Given the description of an element on the screen output the (x, y) to click on. 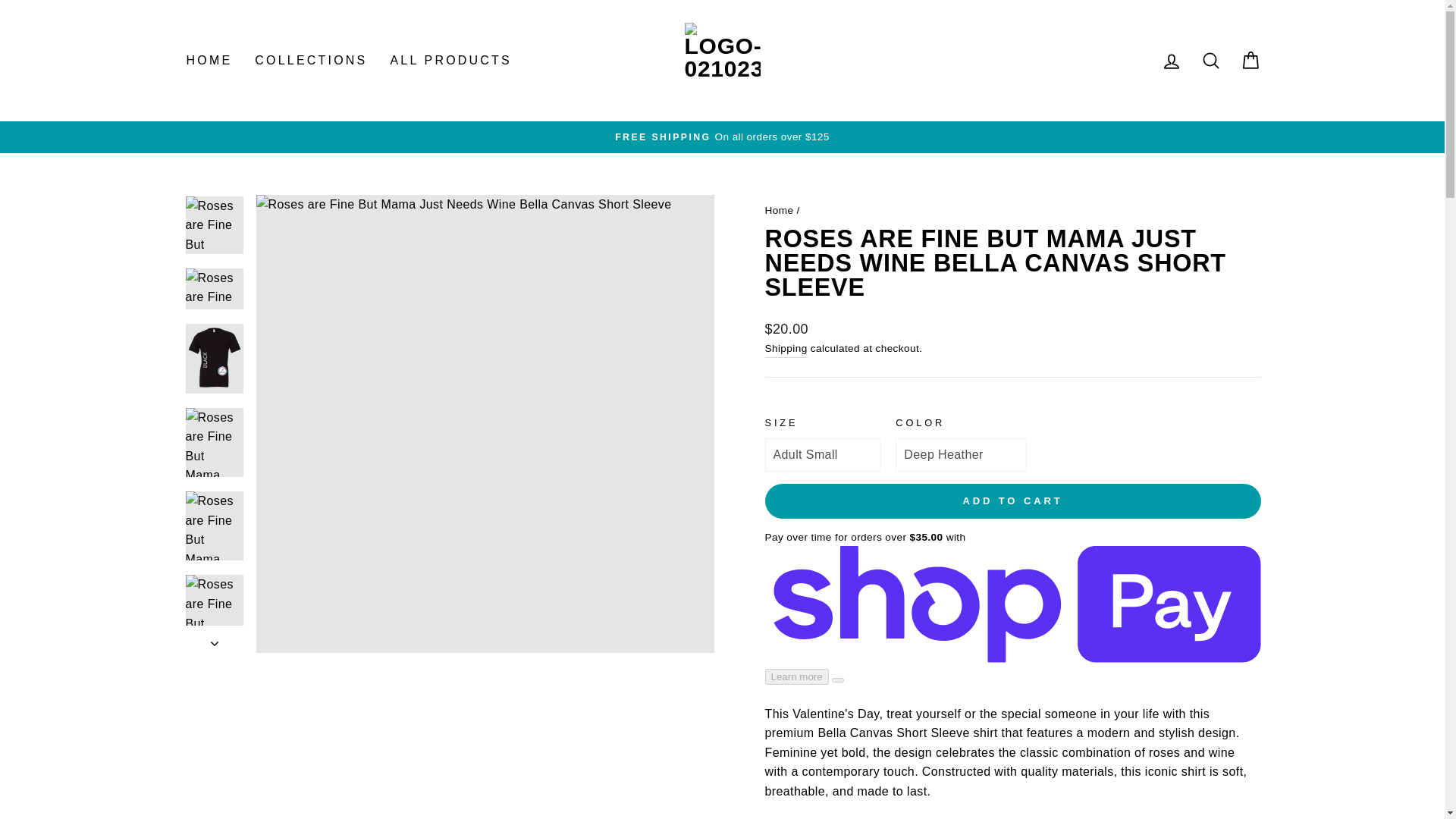
ICON-SEARCH (1210, 60)
Back to the frontpage (778, 210)
HOME (1210, 60)
COLLECTIONS (208, 60)
ACCOUNT (1171, 60)
CART (310, 60)
ALL PRODUCTS (1170, 61)
icon-chevron (1249, 60)
